Given the description of an element on the screen output the (x, y) to click on. 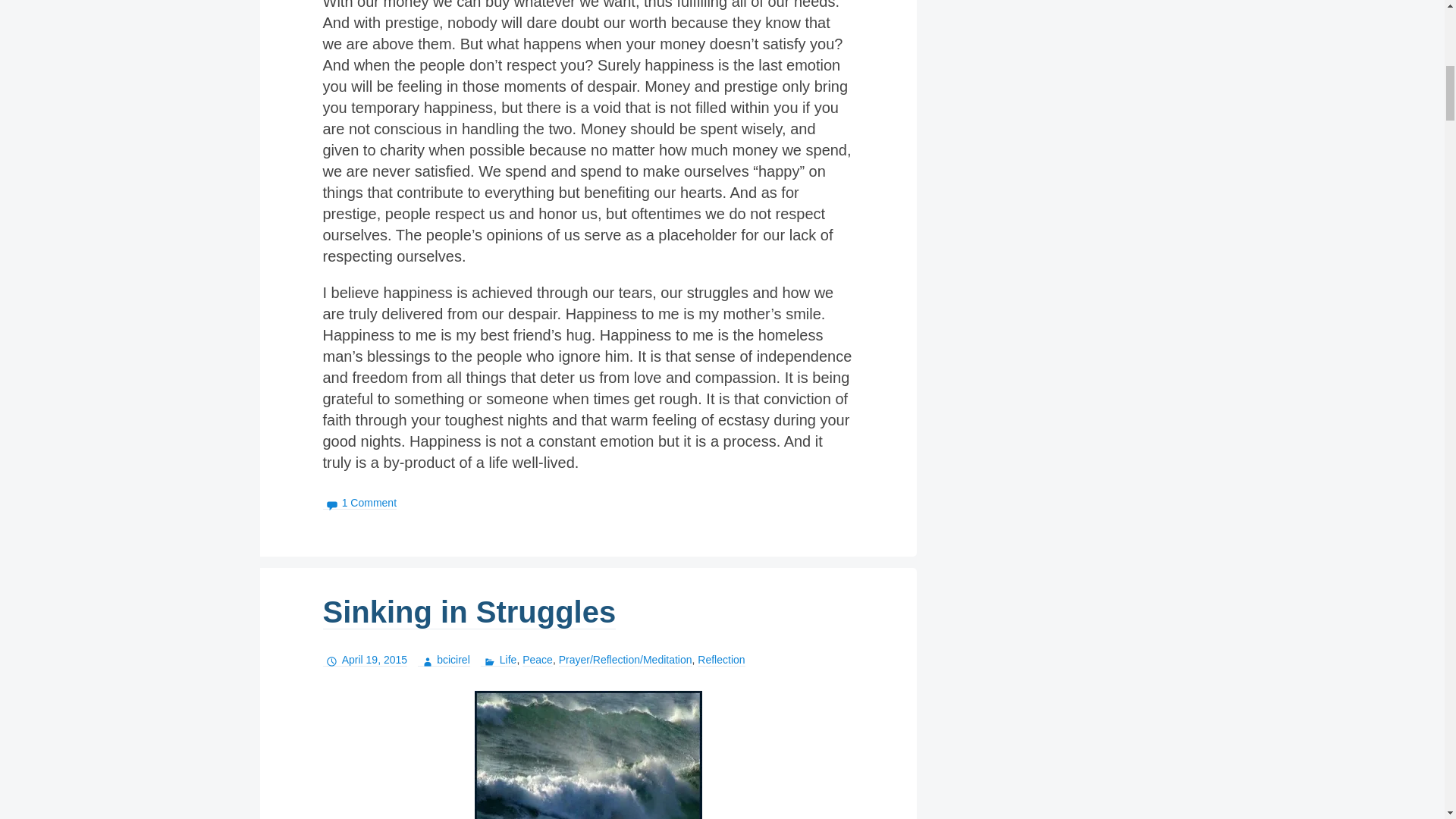
Peace (537, 659)
Life (498, 659)
bcicirel (443, 659)
April 19, 2015 (365, 659)
1 Comment (360, 502)
Sinking in Struggles (469, 612)
Reflection (720, 659)
